Given the description of an element on the screen output the (x, y) to click on. 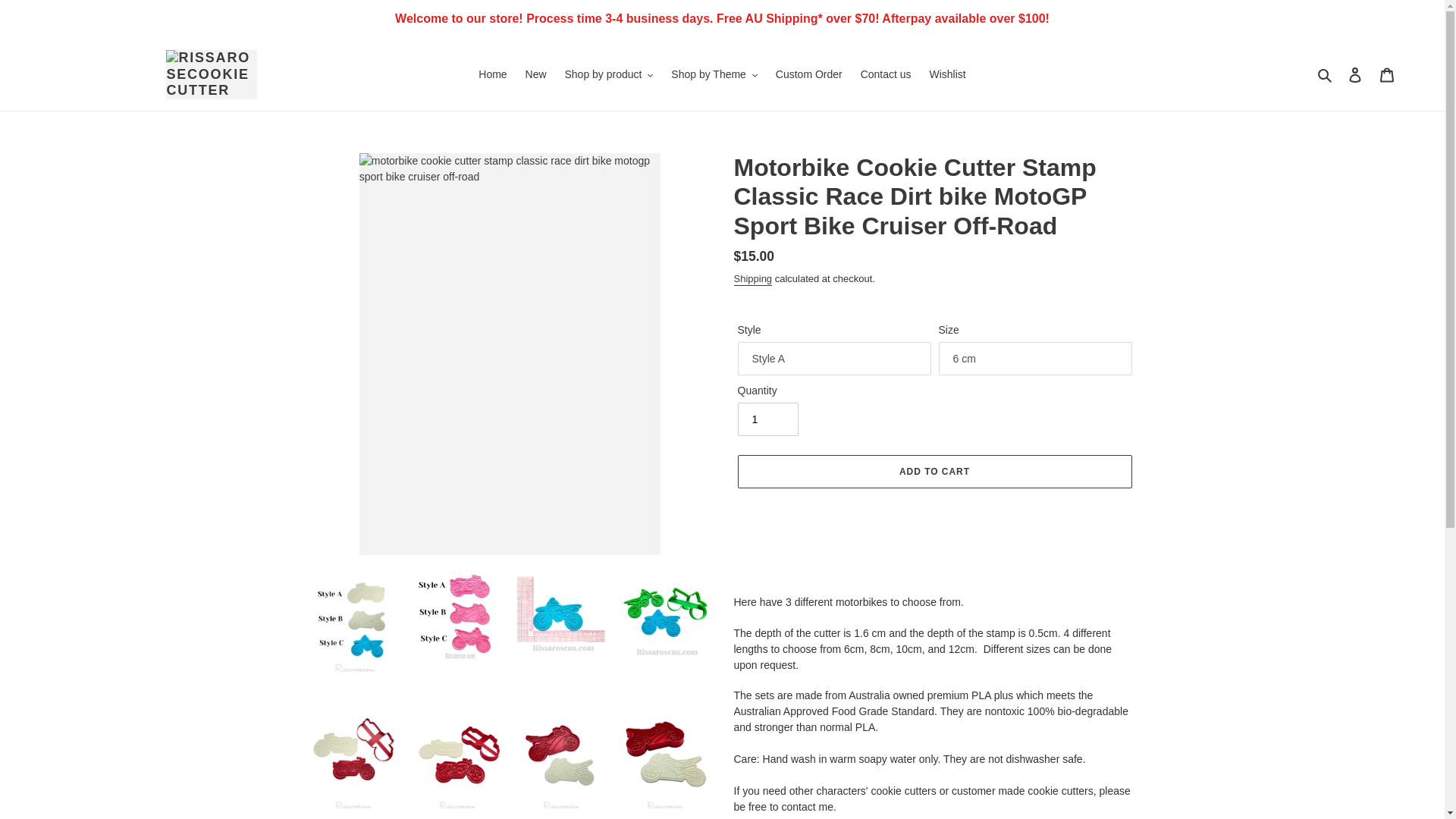
Shop by product (608, 74)
Home (491, 74)
Contact us (885, 74)
Custom Order (809, 74)
1 (766, 418)
New (536, 74)
Shop by Theme (714, 74)
